Given the description of an element on the screen output the (x, y) to click on. 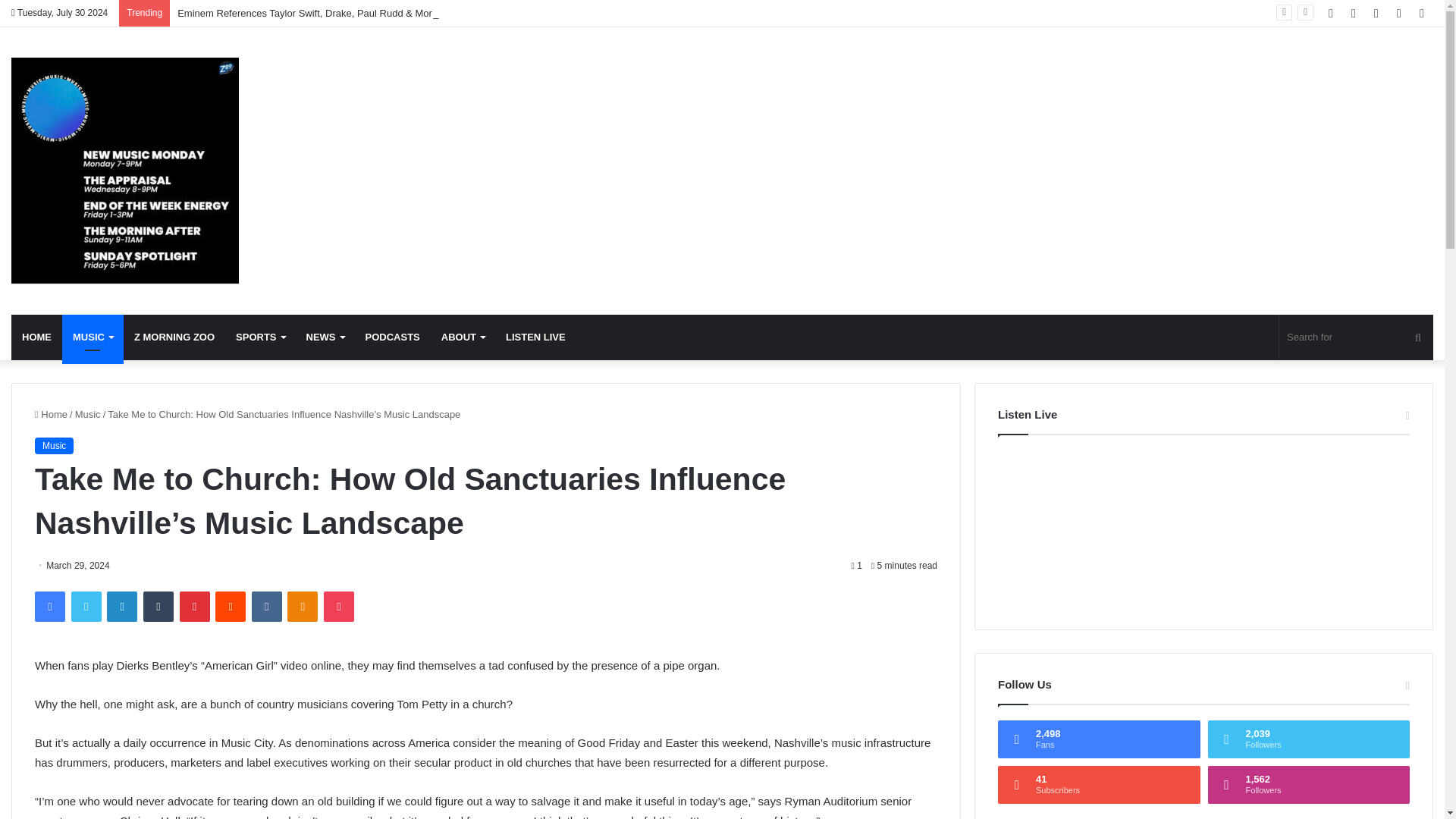
Home (50, 414)
VKontakte (266, 606)
LISTEN LIVE (535, 337)
Pinterest (194, 606)
Music (87, 414)
Z MORNING ZOO (174, 337)
Pocket (338, 606)
SPORTS (260, 337)
PODCASTS (392, 337)
Odnoklassniki (301, 606)
ABOUT (462, 337)
Music (124, 170)
Search for (1355, 337)
Twitter (86, 606)
MUSIC (92, 337)
